Given the description of an element on the screen output the (x, y) to click on. 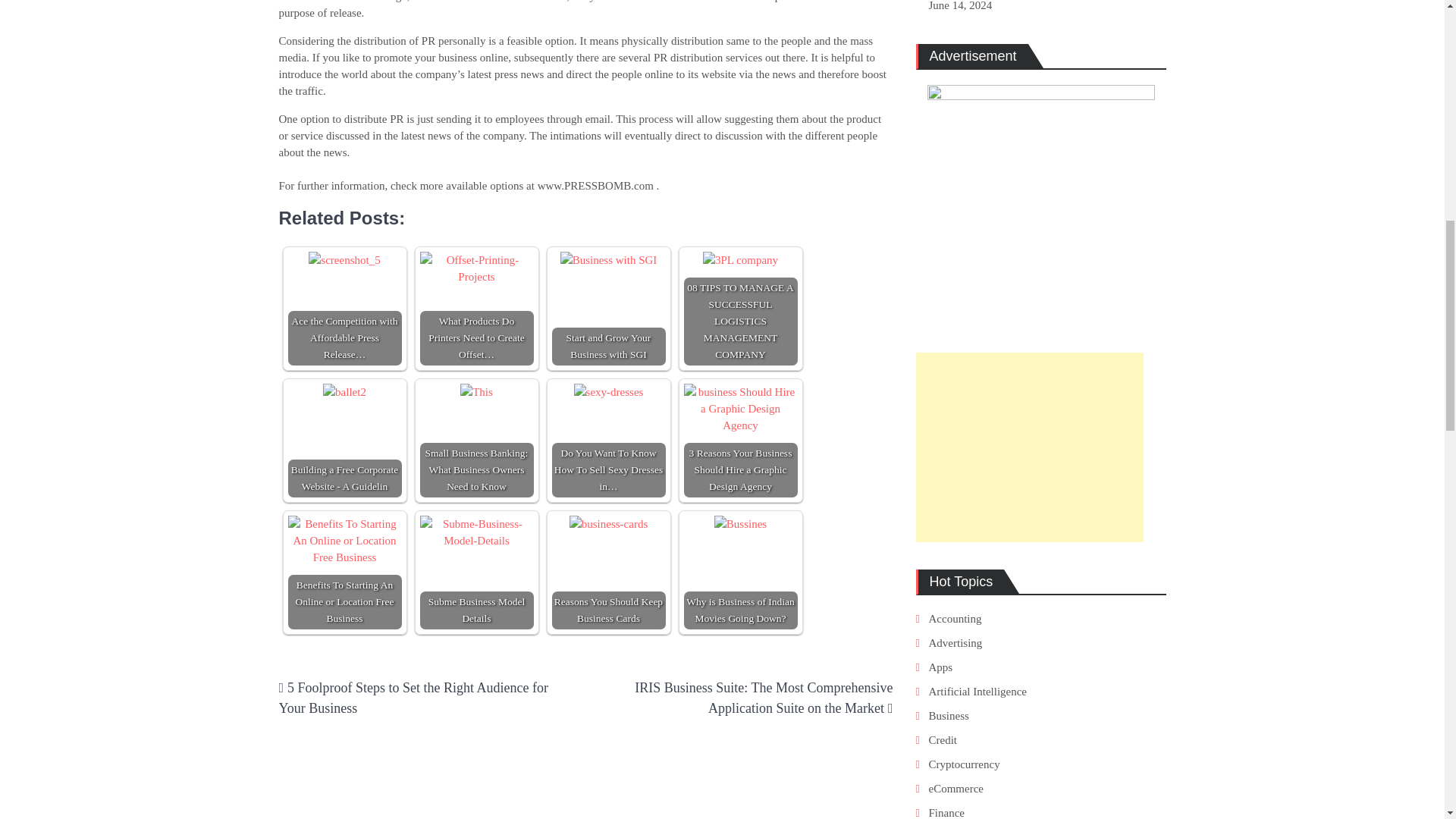
Benefits To Starting An Online or Location Free Business (344, 572)
Start and Grow Your Business with SGI (609, 259)
Reasons You Should Keep Business Cards (608, 523)
Why is Business of Indian Movies Going Down? (740, 523)
Reasons You Should Keep Business Cards (608, 572)
3 Reasons Your Business Should Hire a Graphic Design Agency (740, 409)
Subme Business Model Details (477, 572)
Small Business Banking: What Business Owners Need to Know (477, 440)
Building a Free Corporate Website - A Guidelin (344, 392)
08 TIPS TO MANAGE A SUCCESSFUL LOGISTICS MANAGEMENT COMPANY (740, 259)
Subme Business Model Details (477, 531)
Start and Grow Your Business with SGI (608, 308)
